Given the description of an element on the screen output the (x, y) to click on. 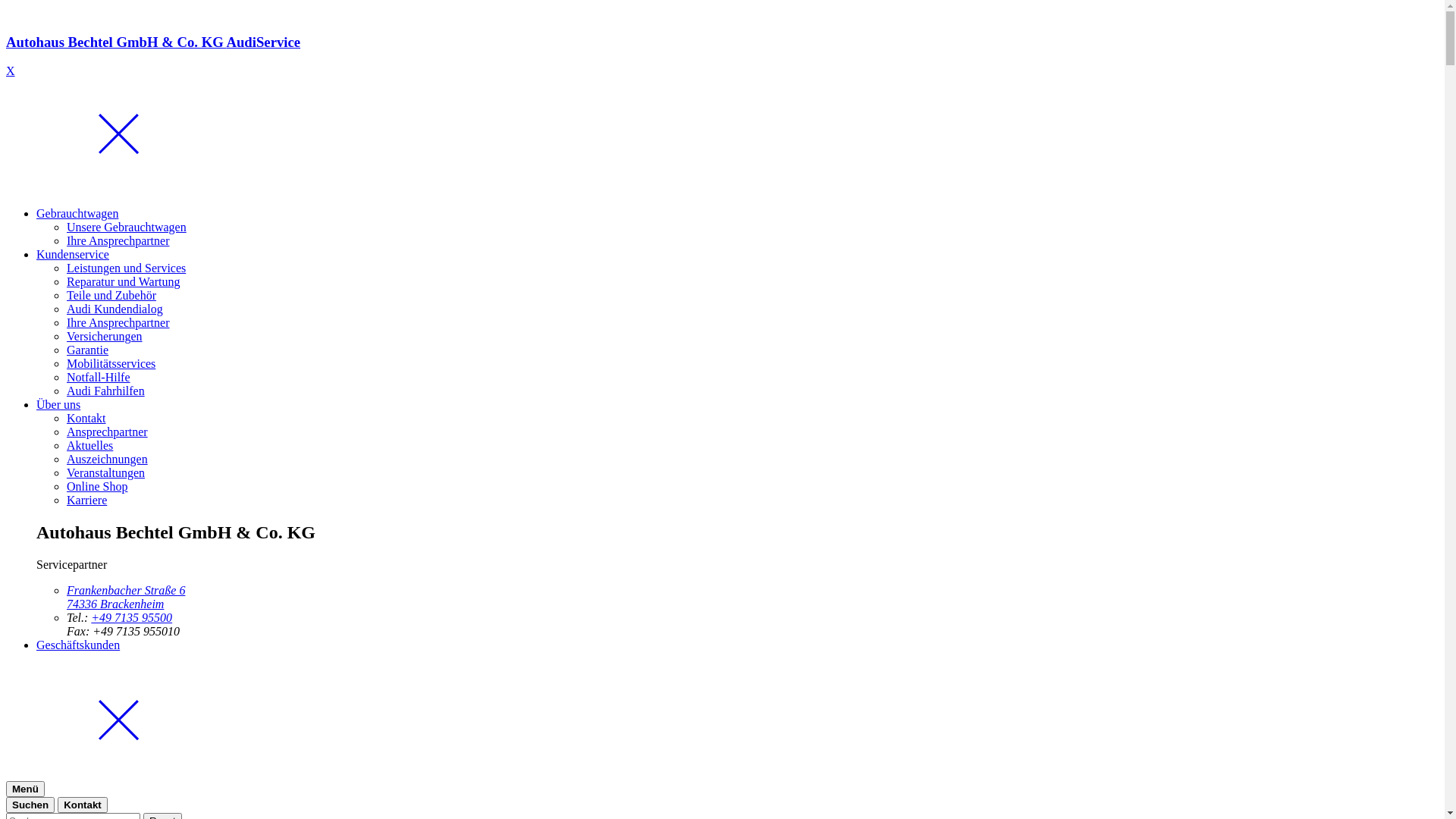
Autohaus Bechtel GmbH & Co. KG AudiService Element type: text (722, 56)
Reparatur und Wartung Element type: text (122, 281)
Ihre Ansprechpartner Element type: text (117, 240)
Gebrauchtwagen Element type: text (77, 213)
Kundenservice Element type: text (72, 253)
+49 7135 95500 Element type: text (131, 617)
Aktuelles Element type: text (89, 445)
Online Shop Element type: text (96, 486)
Karriere Element type: text (86, 499)
X Element type: text (10, 70)
Garantie Element type: text (87, 349)
Auszeichnungen Element type: text (106, 458)
Leistungen und Services Element type: text (125, 267)
Kontakt Element type: text (86, 417)
Unsere Gebrauchtwagen Element type: text (126, 226)
Notfall-Hilfe Element type: text (98, 376)
Kontakt Element type: text (82, 804)
Ihre Ansprechpartner Element type: text (117, 322)
Versicherungen Element type: text (104, 335)
Audi Fahrhilfen Element type: text (105, 390)
Audi Kundendialog Element type: text (114, 308)
Ansprechpartner Element type: text (106, 431)
Suchen Element type: text (30, 804)
Veranstaltungen Element type: text (105, 472)
